Given the description of an element on the screen output the (x, y) to click on. 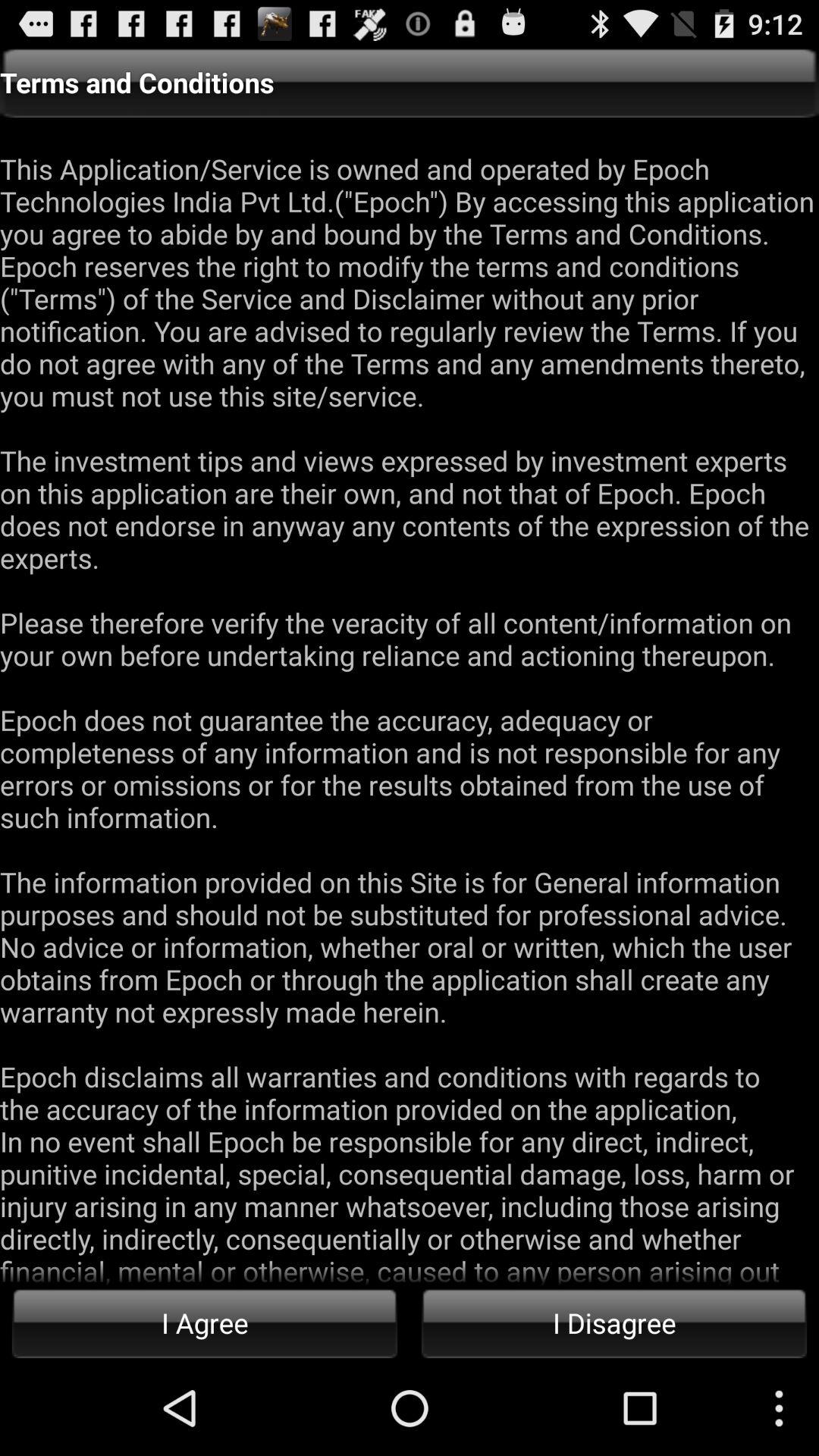
tap icon to the right of the  i agree (614, 1323)
